Given the description of an element on the screen output the (x, y) to click on. 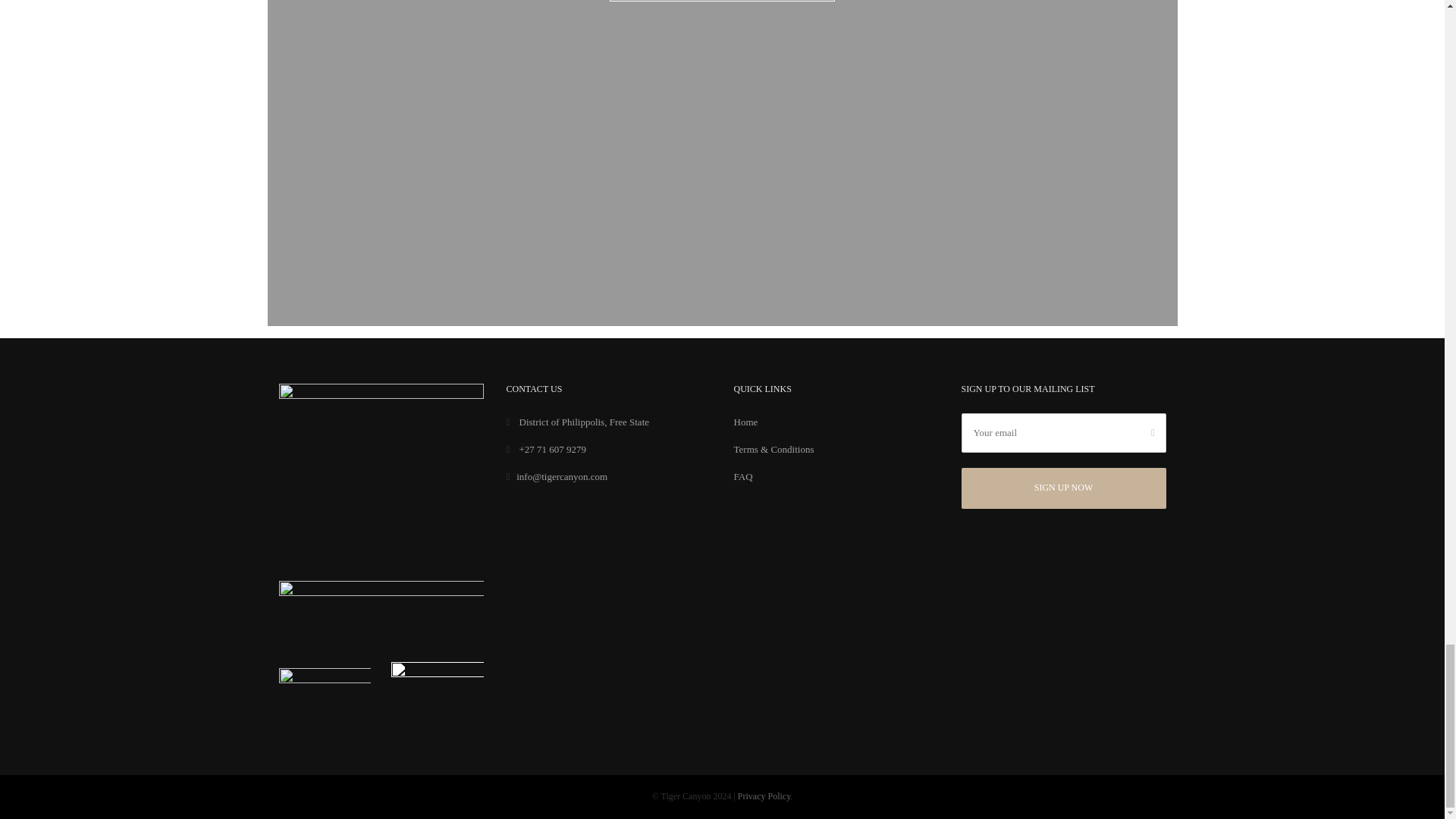
Home (745, 421)
FAQ (742, 476)
Sign up now (1063, 487)
Sign up now (1063, 487)
Privacy Policy (764, 796)
